Given the description of an element on the screen output the (x, y) to click on. 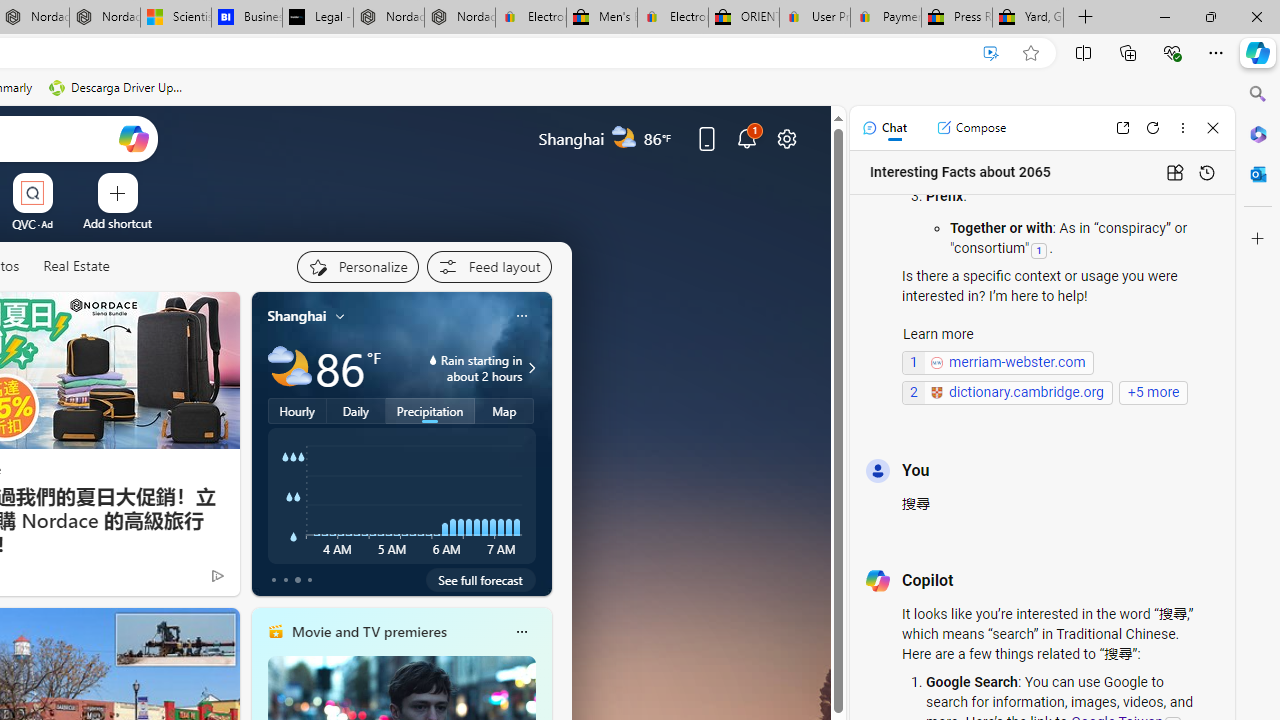
Minimize Search pane (1258, 94)
Partly cloudy (289, 368)
Class: weather-arrow-glyph (531, 367)
See full forecast (480, 579)
4 AM 5 AM 6 AM 7 AM (401, 495)
water-drop-icon Rain starting in about 2 hours (459, 367)
tab-3 (309, 579)
You're following MSNBC (175, 579)
Add a site (117, 223)
